Given the description of an element on the screen output the (x, y) to click on. 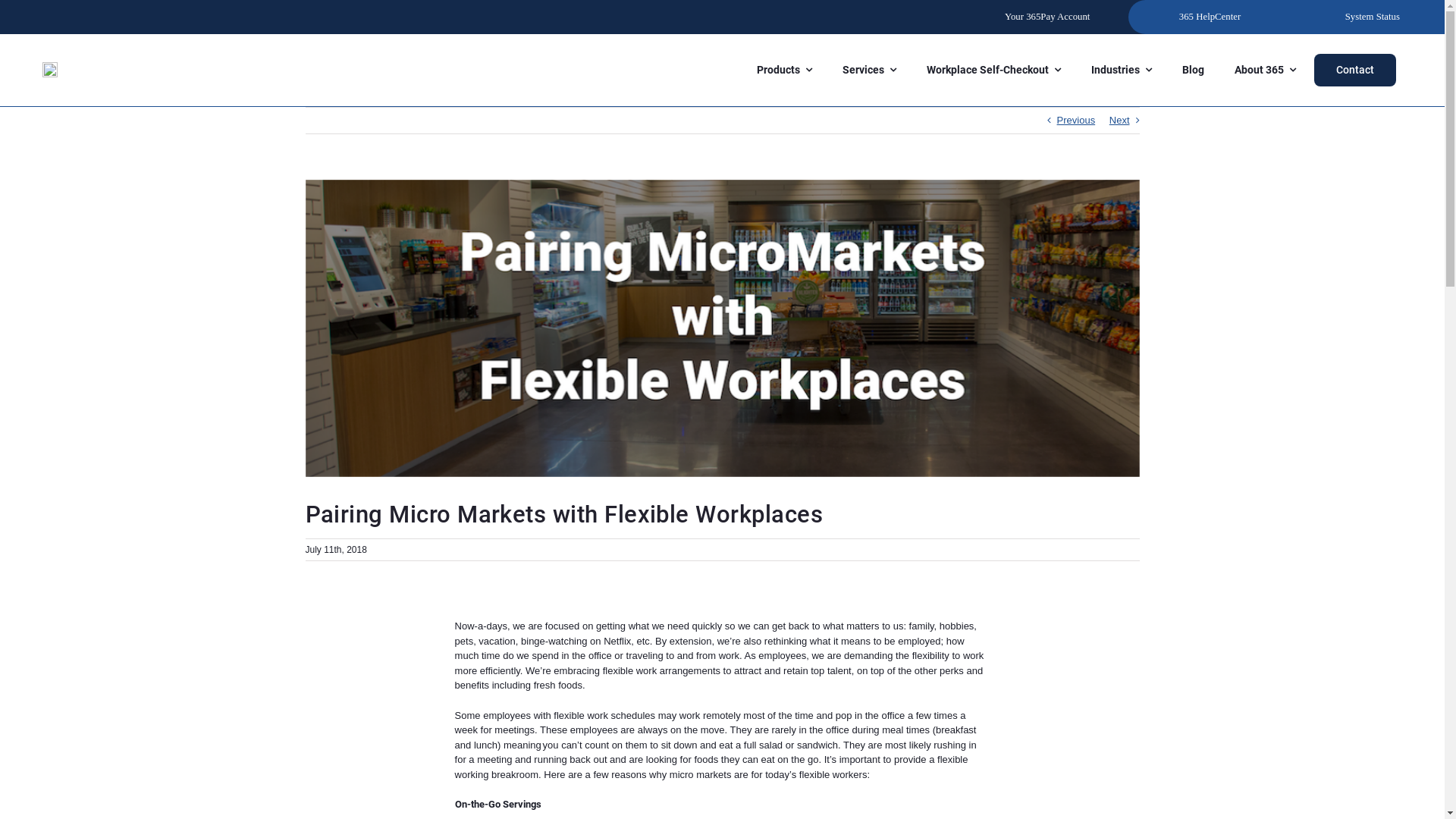
System Status Element type: text (1372, 16)
365 HelpCenter Element type: text (1209, 16)
Workplace Self-Checkout Element type: text (993, 69)
Products Element type: text (784, 69)
Contact Element type: text (1355, 69)
About 365 Element type: text (1265, 69)
Blog Element type: text (1193, 69)
Your 365Pay Account Element type: text (1046, 16)
Industries Element type: text (1121, 69)
View Larger Image Element type: text (721, 328)
Services Element type: text (869, 69)
Previous Element type: text (1076, 120)
Next Element type: text (1119, 120)
